Given the description of an element on the screen output the (x, y) to click on. 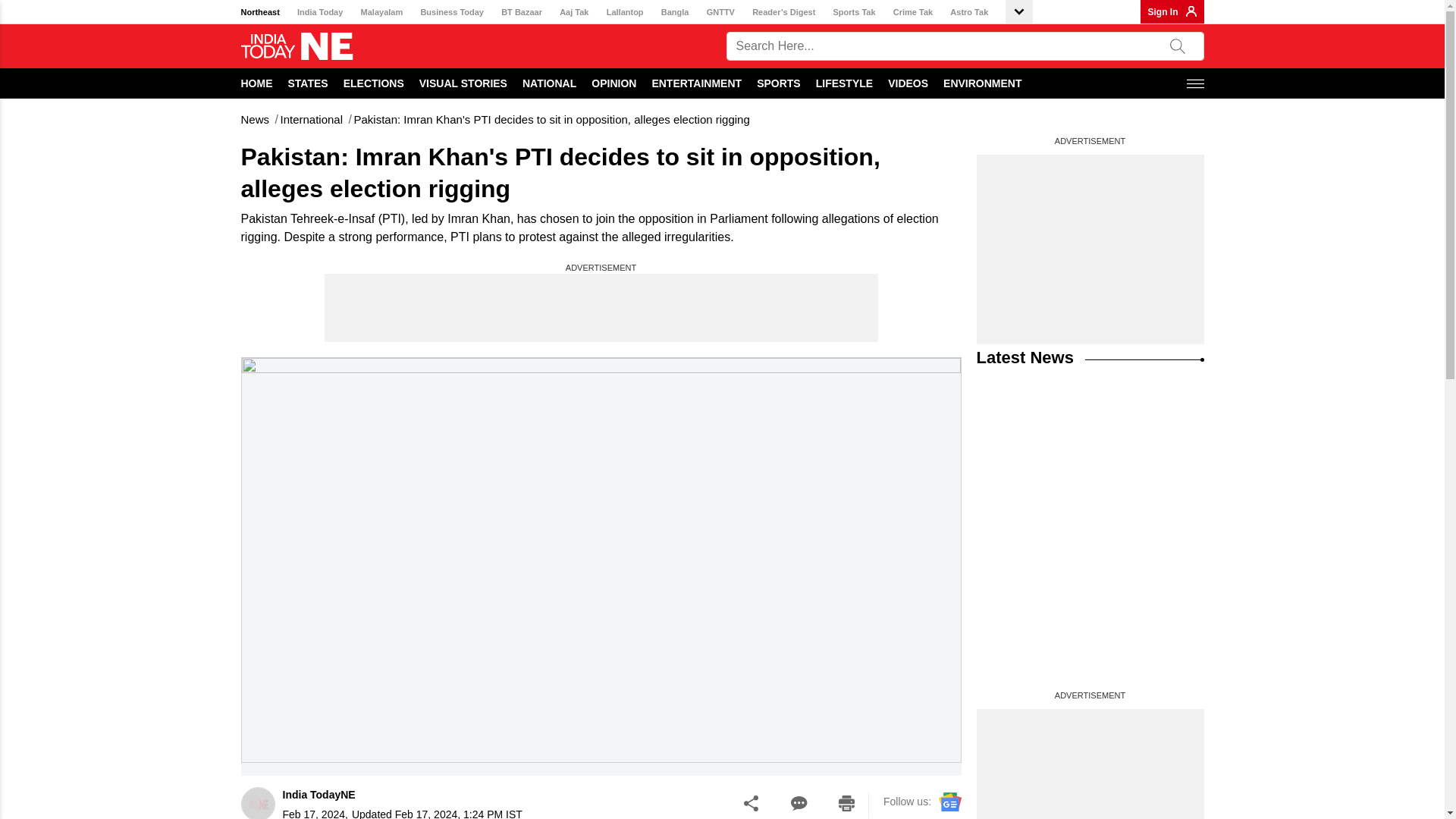
Aaj Tak (573, 12)
STATES (308, 82)
Malayalam (382, 12)
Sports Tak (854, 12)
Malayalam (382, 12)
VISUAL STORIES (462, 82)
Crime Tak (913, 12)
India Today (319, 12)
HOME (257, 82)
Astro Tak (969, 12)
Northeast (260, 12)
GNTTV (720, 12)
Bangla (674, 12)
Lallantop (625, 12)
Northeast (260, 12)
